Given the description of an element on the screen output the (x, y) to click on. 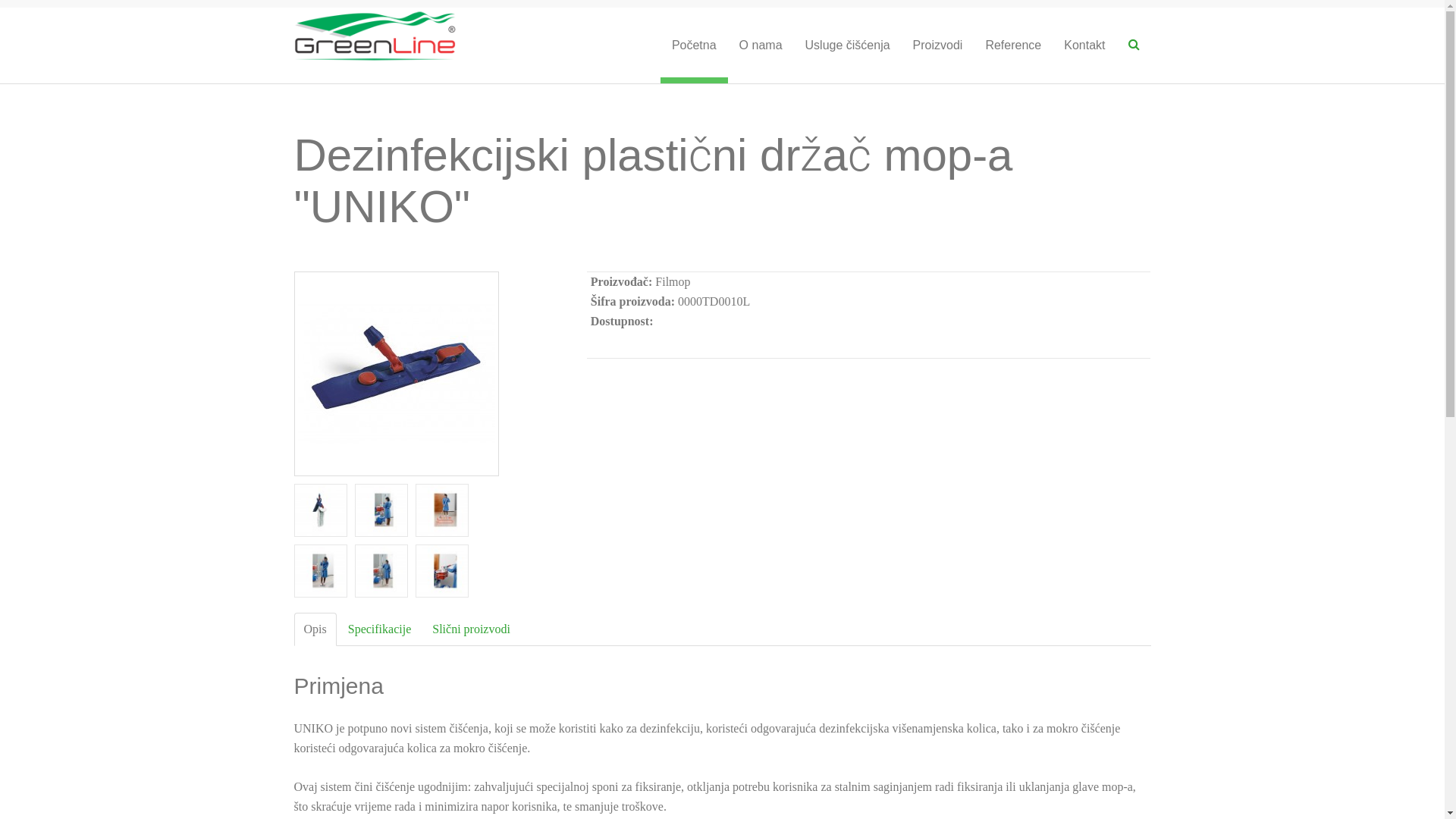
Specifikacije Element type: text (379, 629)
Opis Element type: text (315, 629)
Reference Element type: text (1012, 45)
Kontakt Element type: text (1084, 45)
O nama Element type: text (760, 45)
Proizvodi Element type: text (937, 45)
